Given the description of an element on the screen output the (x, y) to click on. 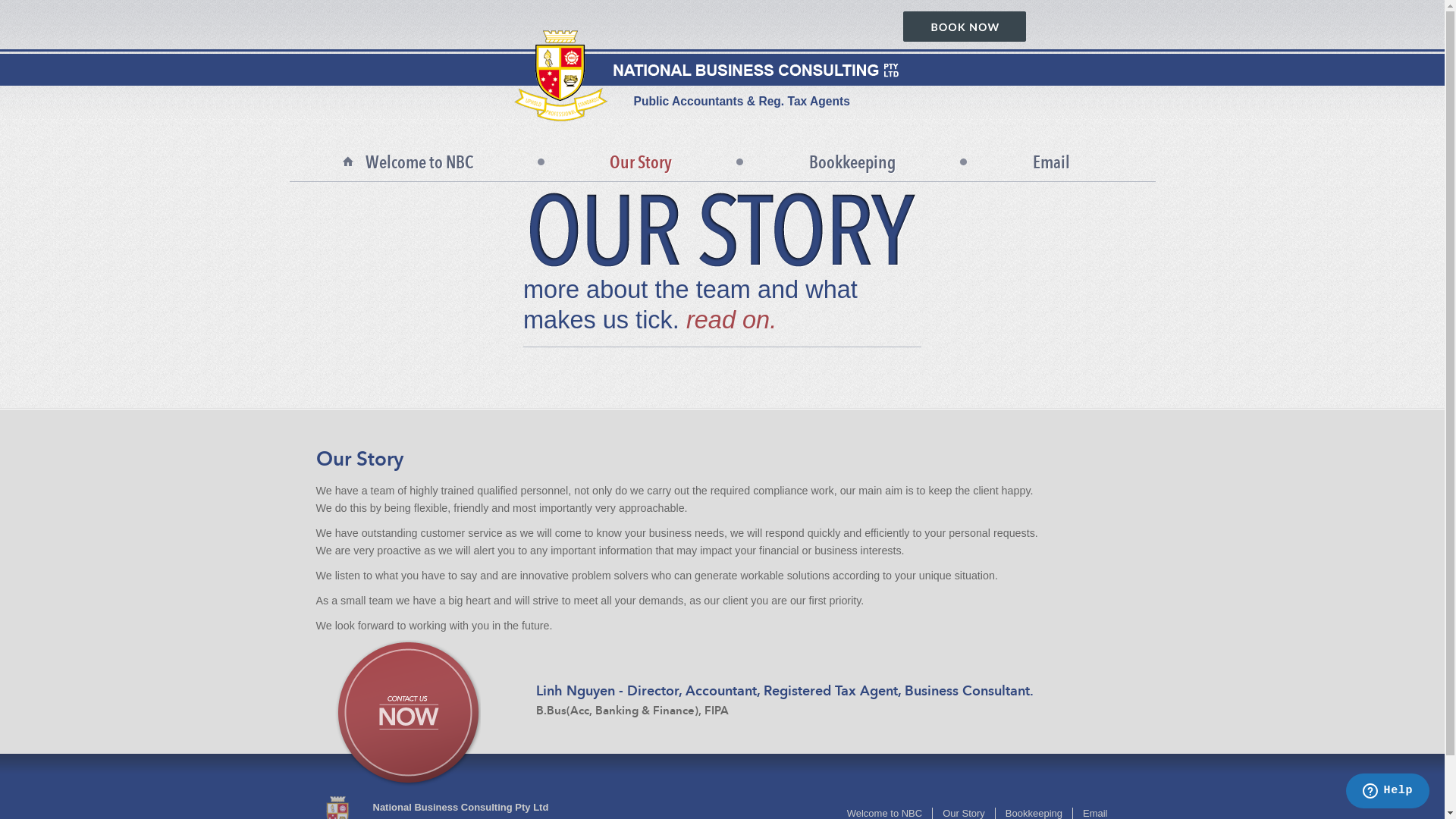
Email Element type: text (1051, 162)
Welcome to NBC Element type: text (418, 162)
Opens a widget where you can chat to one of our agents Element type: hover (1387, 792)
read on. Element type: text (731, 319)
Our Story Element type: text (640, 162)
Bookkeeping Element type: text (852, 162)
